Given the description of an element on the screen output the (x, y) to click on. 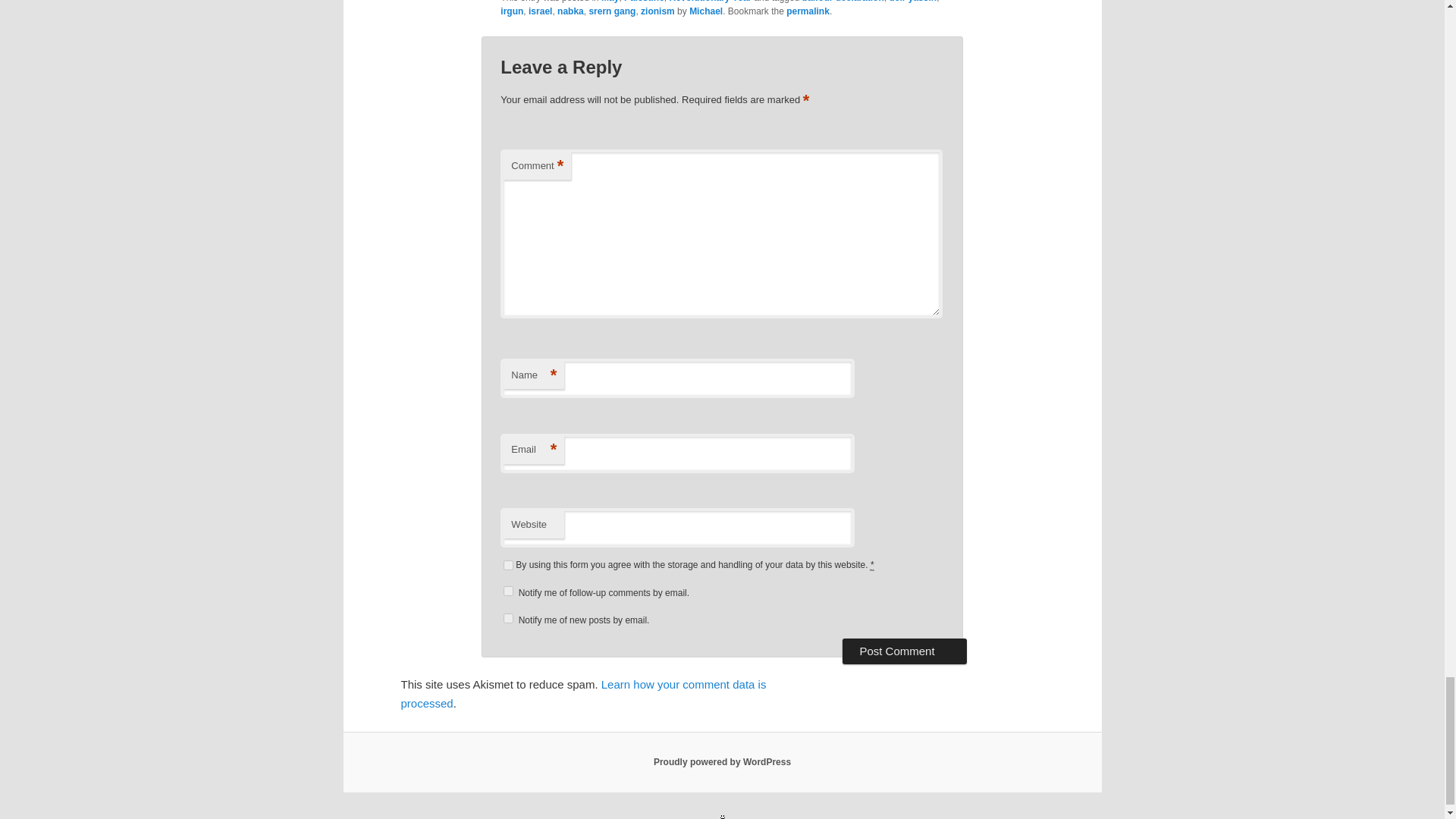
subscribe (508, 591)
Post Comment (904, 651)
subscribe (508, 618)
Semantic Personal Publishing Platform (721, 761)
